Given the description of an element on the screen output the (x, y) to click on. 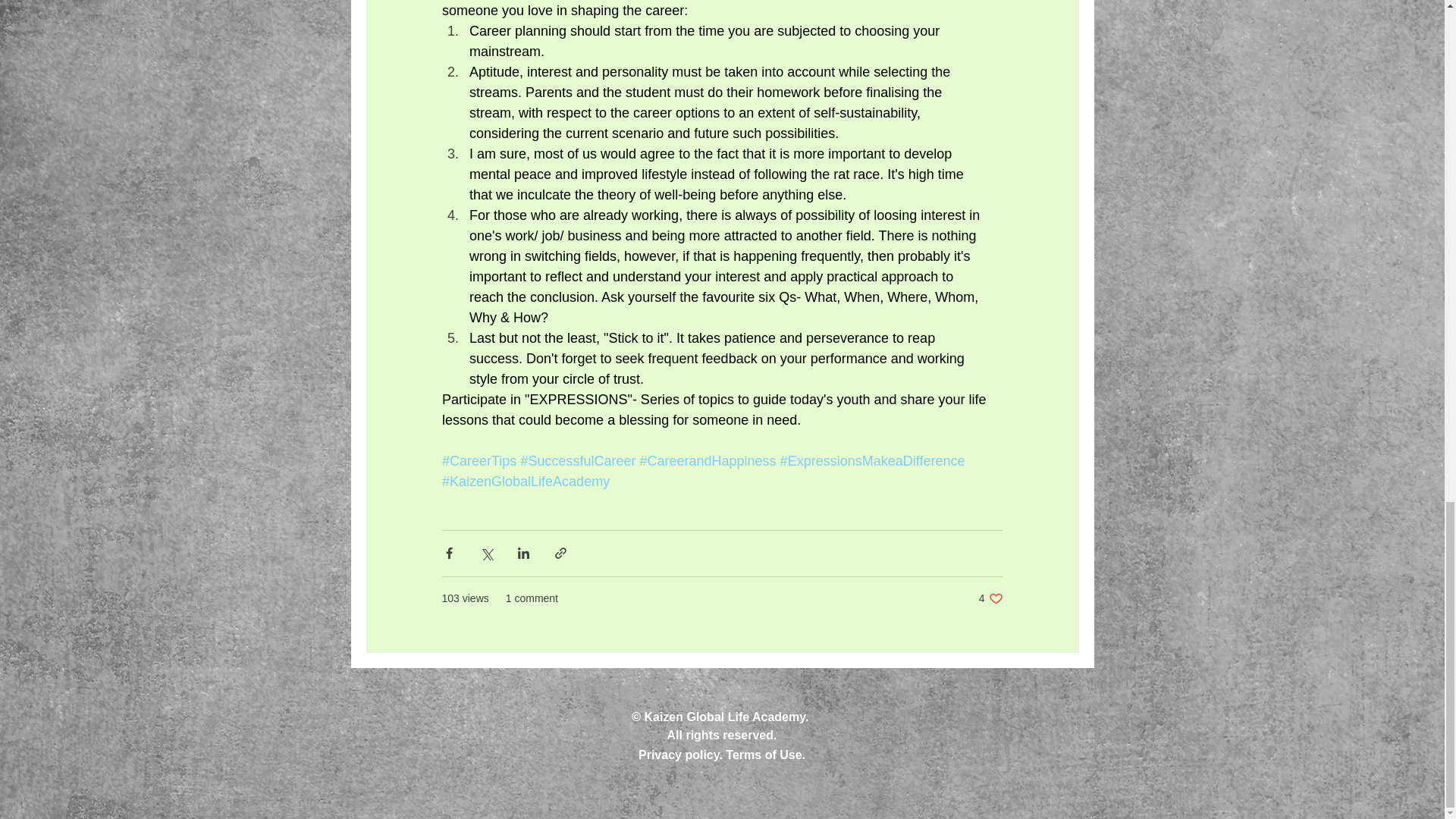
Privacy policy. (680, 754)
Terms of Use. (990, 598)
